Given the description of an element on the screen output the (x, y) to click on. 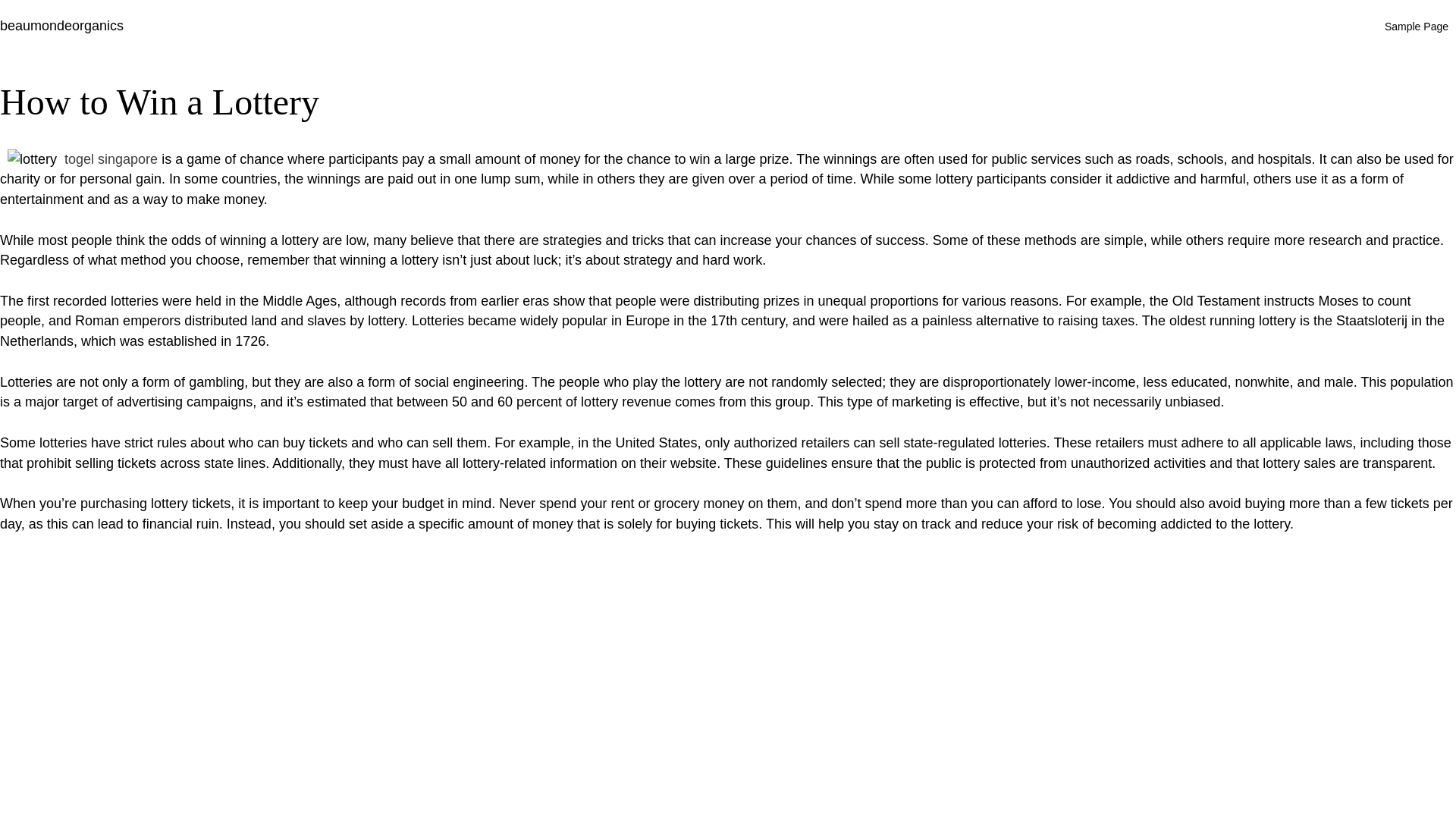
beaumondeorganics (61, 25)
Sample Page (1416, 26)
togel singapore (110, 159)
